Given the description of an element on the screen output the (x, y) to click on. 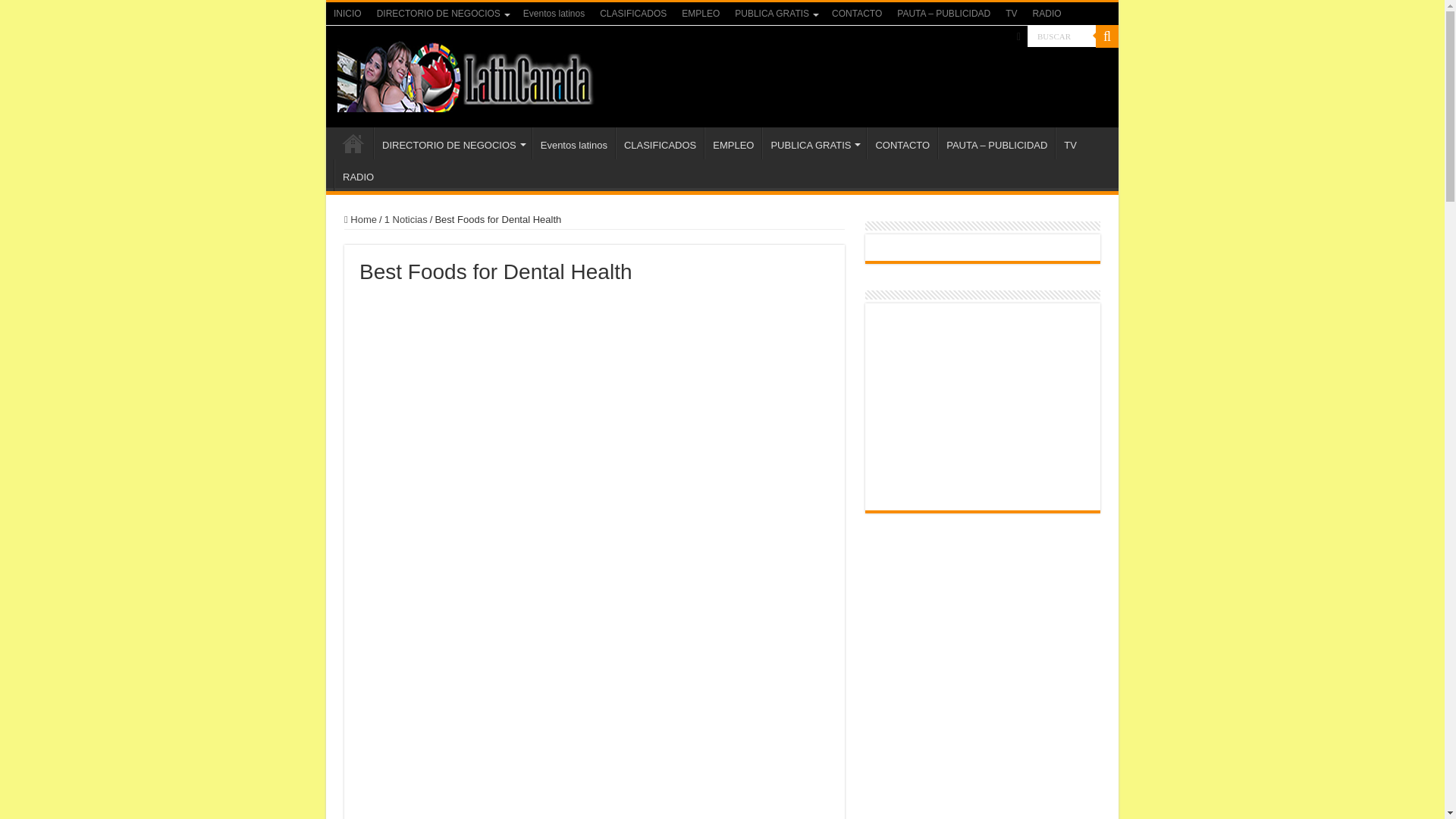
INICIO (347, 13)
BUSCAR (1061, 35)
DIRECTORIO DE NEGOCIOS (442, 13)
BUSCAR (1061, 35)
LatinCanada.ca (465, 73)
BUSCAR (1061, 35)
